Given the description of an element on the screen output the (x, y) to click on. 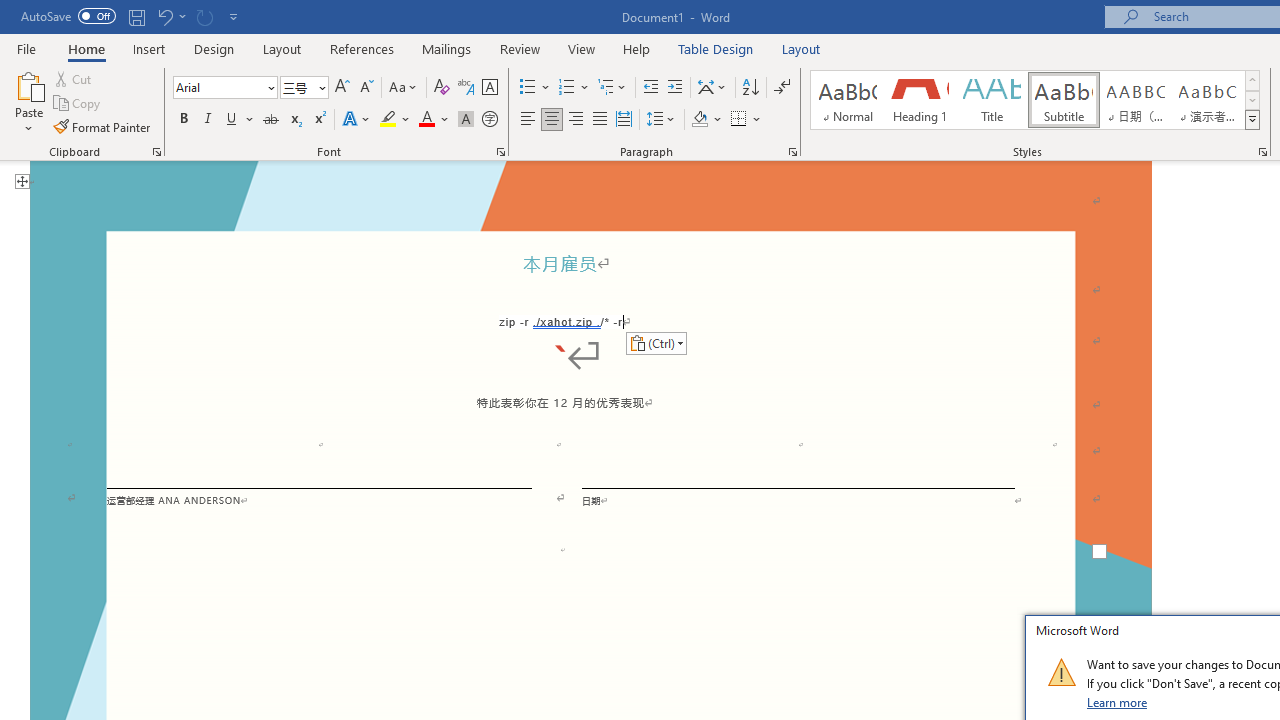
Learn more (1118, 702)
